Given the description of an element on the screen output the (x, y) to click on. 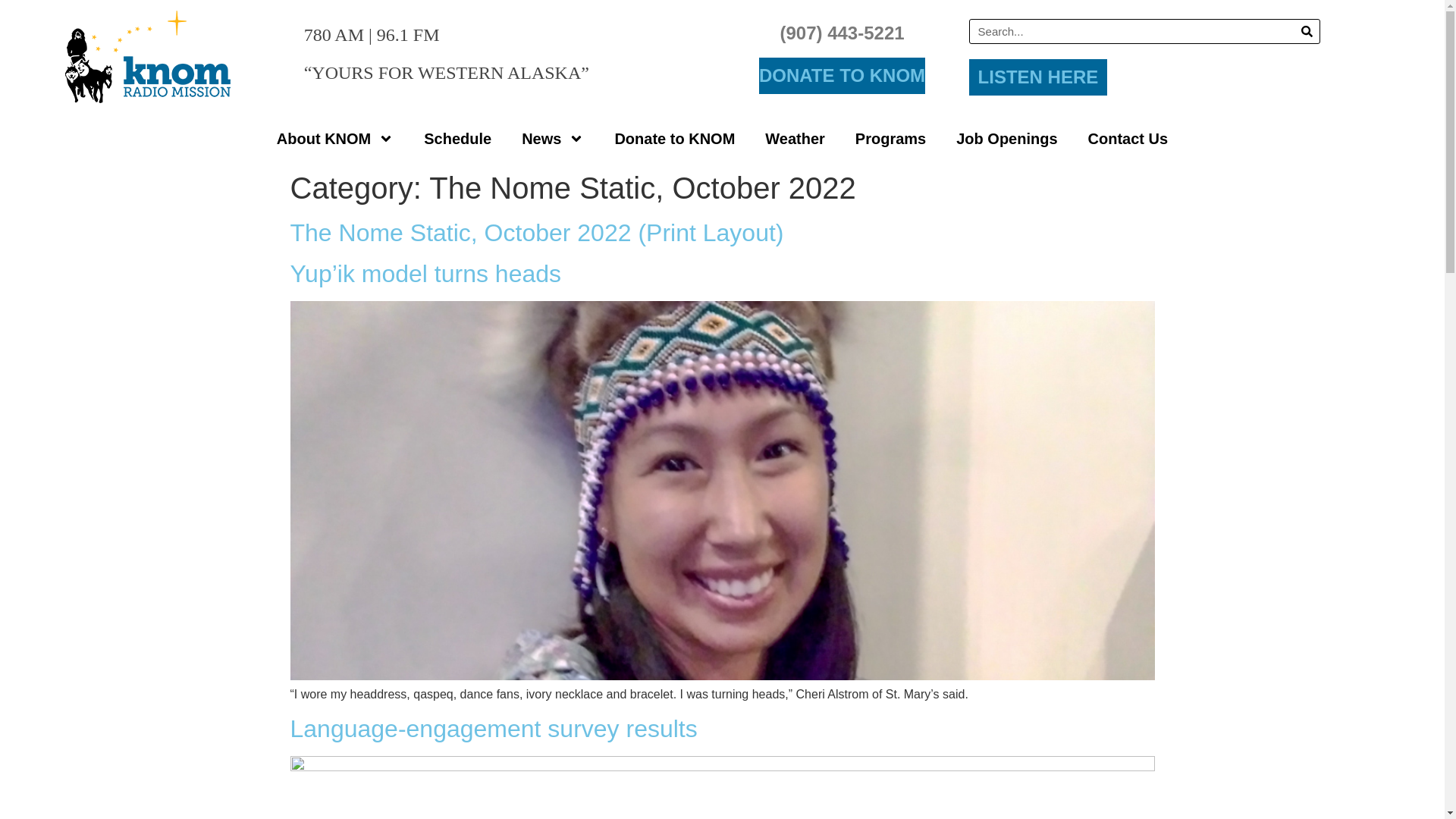
LISTEN HERE (1038, 76)
DONATE TO KNOM (841, 75)
